Given the description of an element on the screen output the (x, y) to click on. 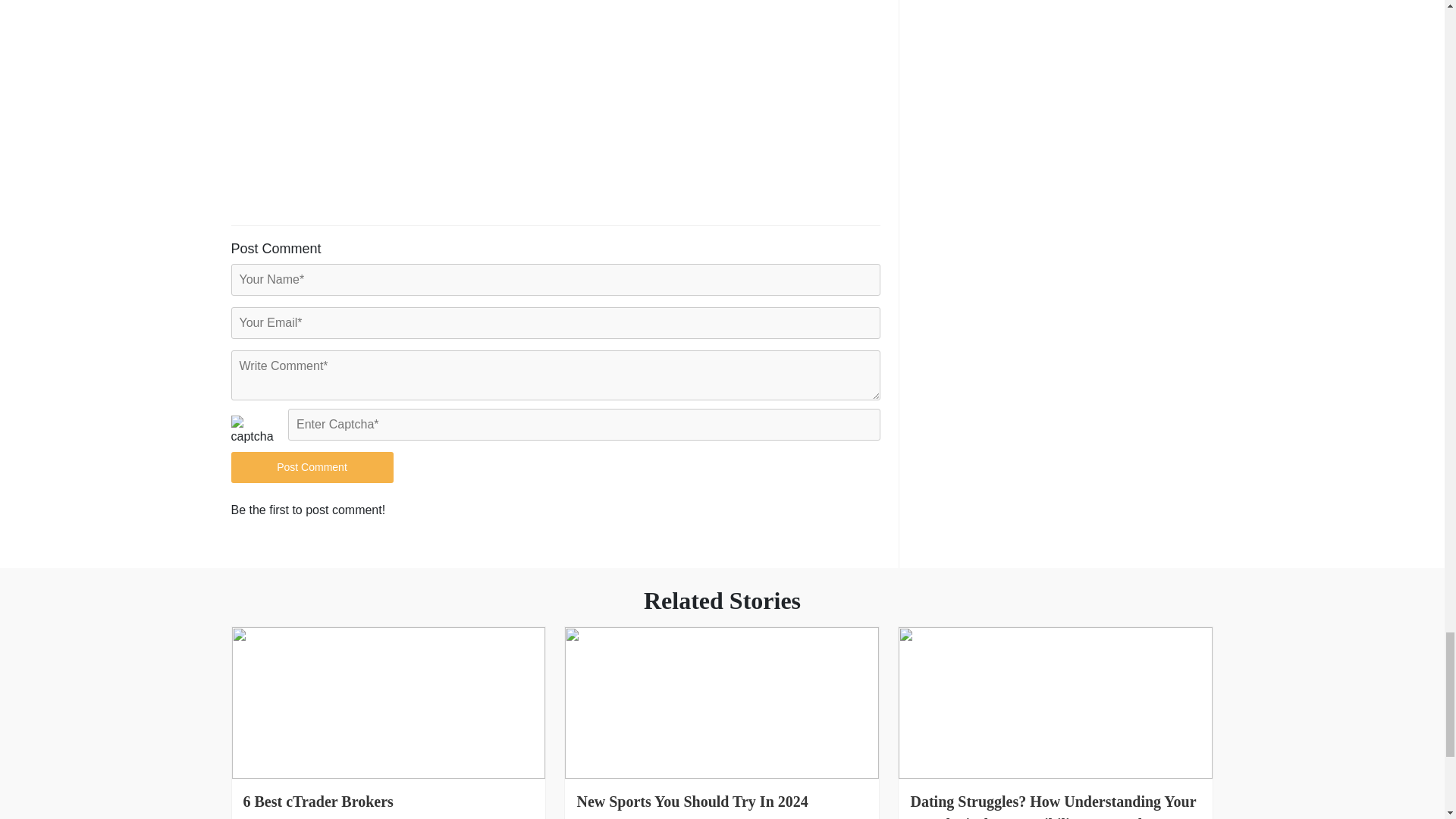
Post Comment (311, 467)
